Given the description of an element on the screen output the (x, y) to click on. 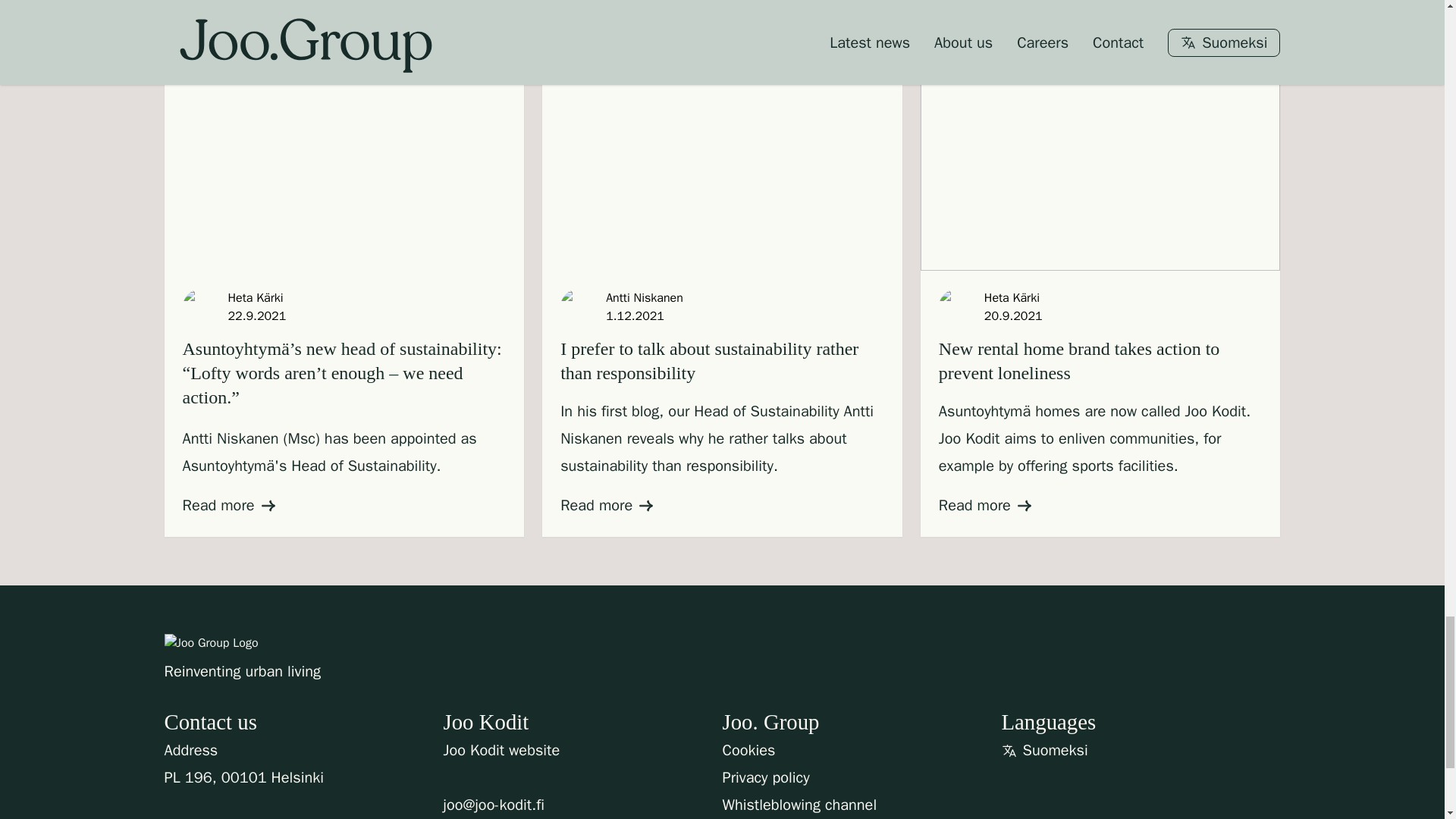
Whistleblowing channel (799, 805)
Suomeksi (1050, 750)
Read more (228, 505)
Read more (606, 505)
Joo Kodit website (500, 750)
Read more (984, 505)
Cookies (748, 750)
Privacy policy (765, 777)
Joo-kodit.fi (500, 750)
